Given the description of an element on the screen output the (x, y) to click on. 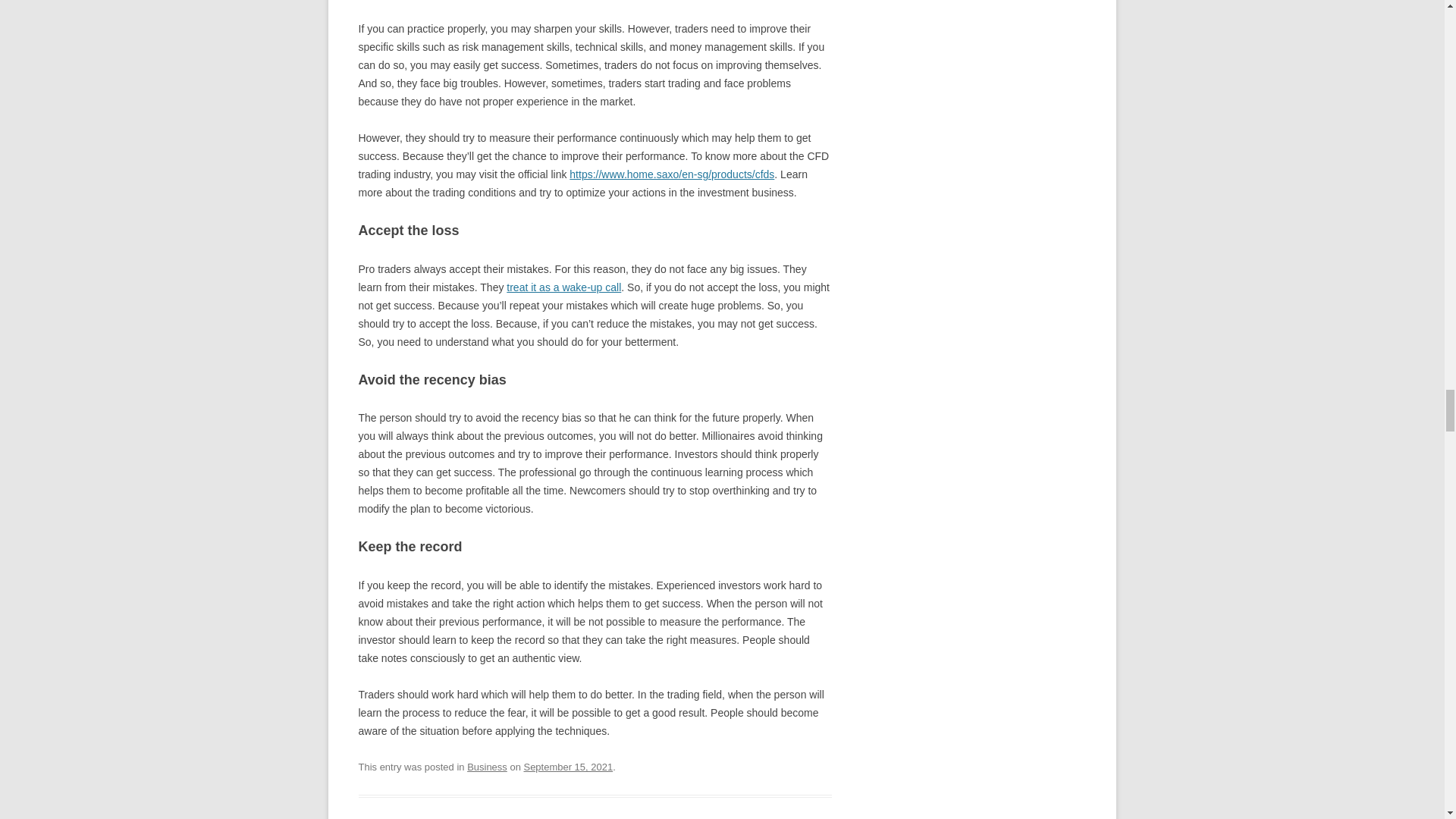
9:28 am (567, 767)
treat it as a wake-up call (563, 287)
Business (486, 767)
September 15, 2021 (567, 767)
